Given the description of an element on the screen output the (x, y) to click on. 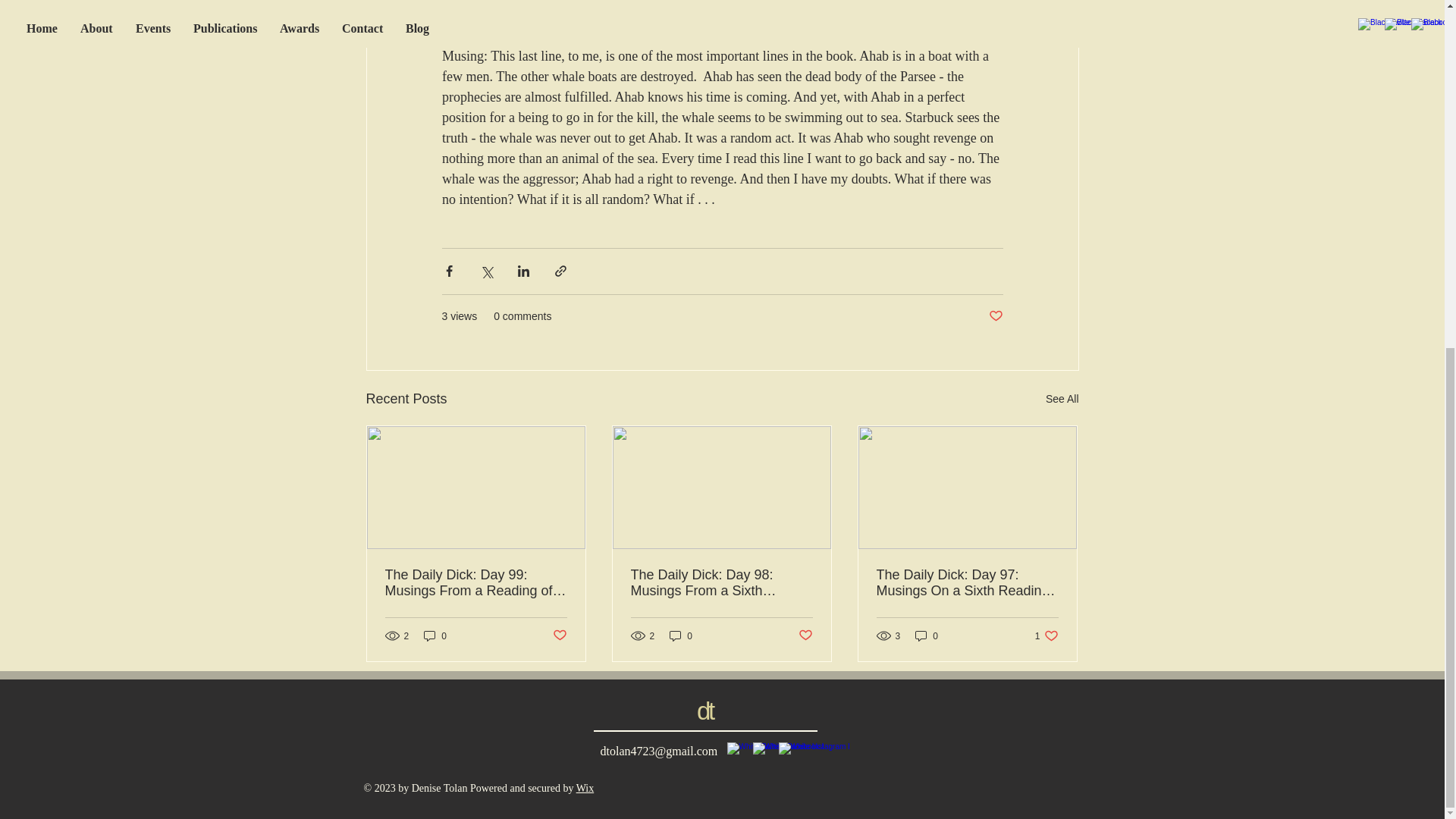
0 (926, 635)
Wix (585, 787)
0 (435, 635)
Post not marked as liked (804, 635)
See All (1061, 399)
0 (681, 635)
Post not marked as liked (1046, 635)
